Given the description of an element on the screen output the (x, y) to click on. 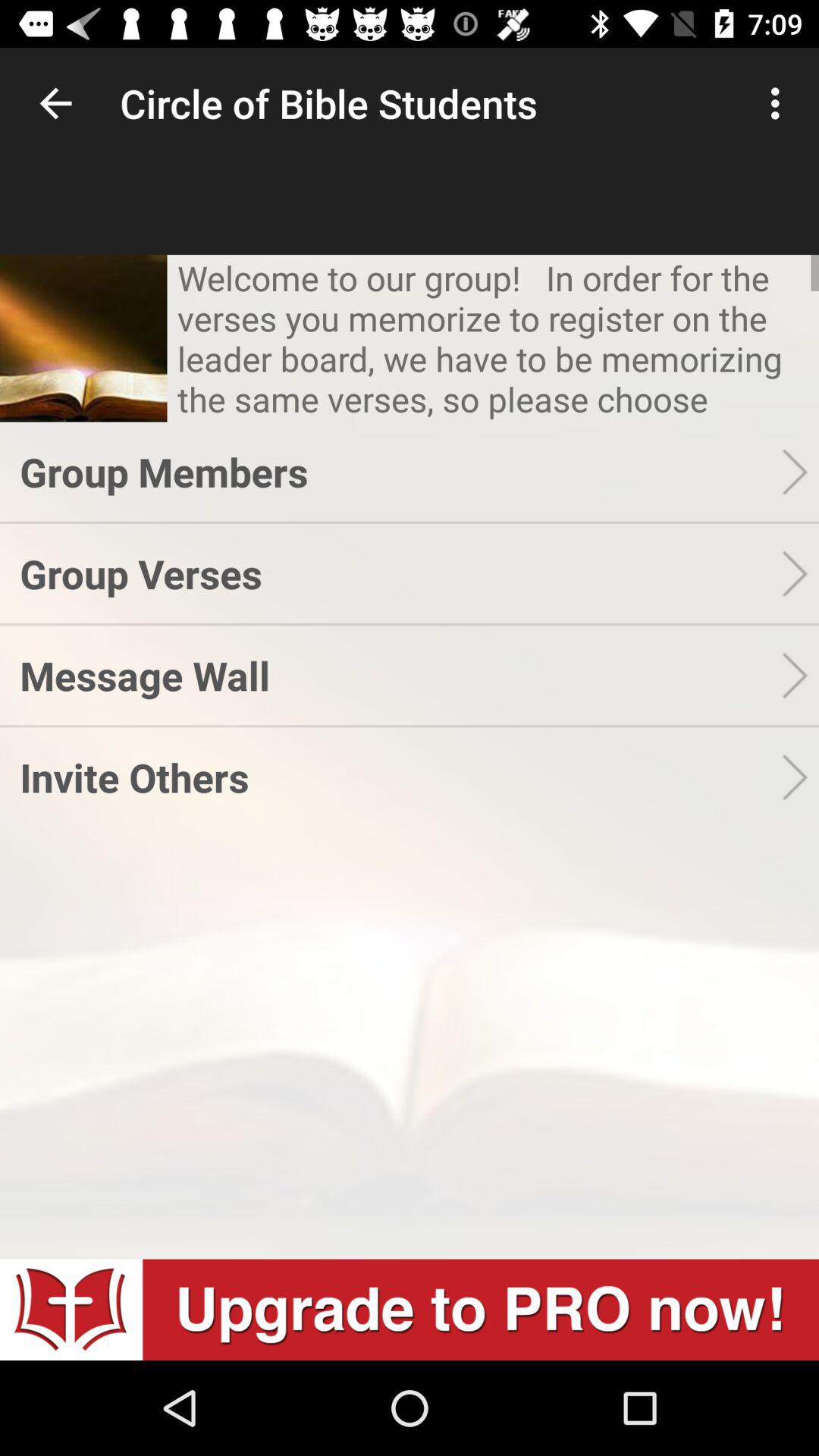
tap message wall item (399, 675)
